Given the description of an element on the screen output the (x, y) to click on. 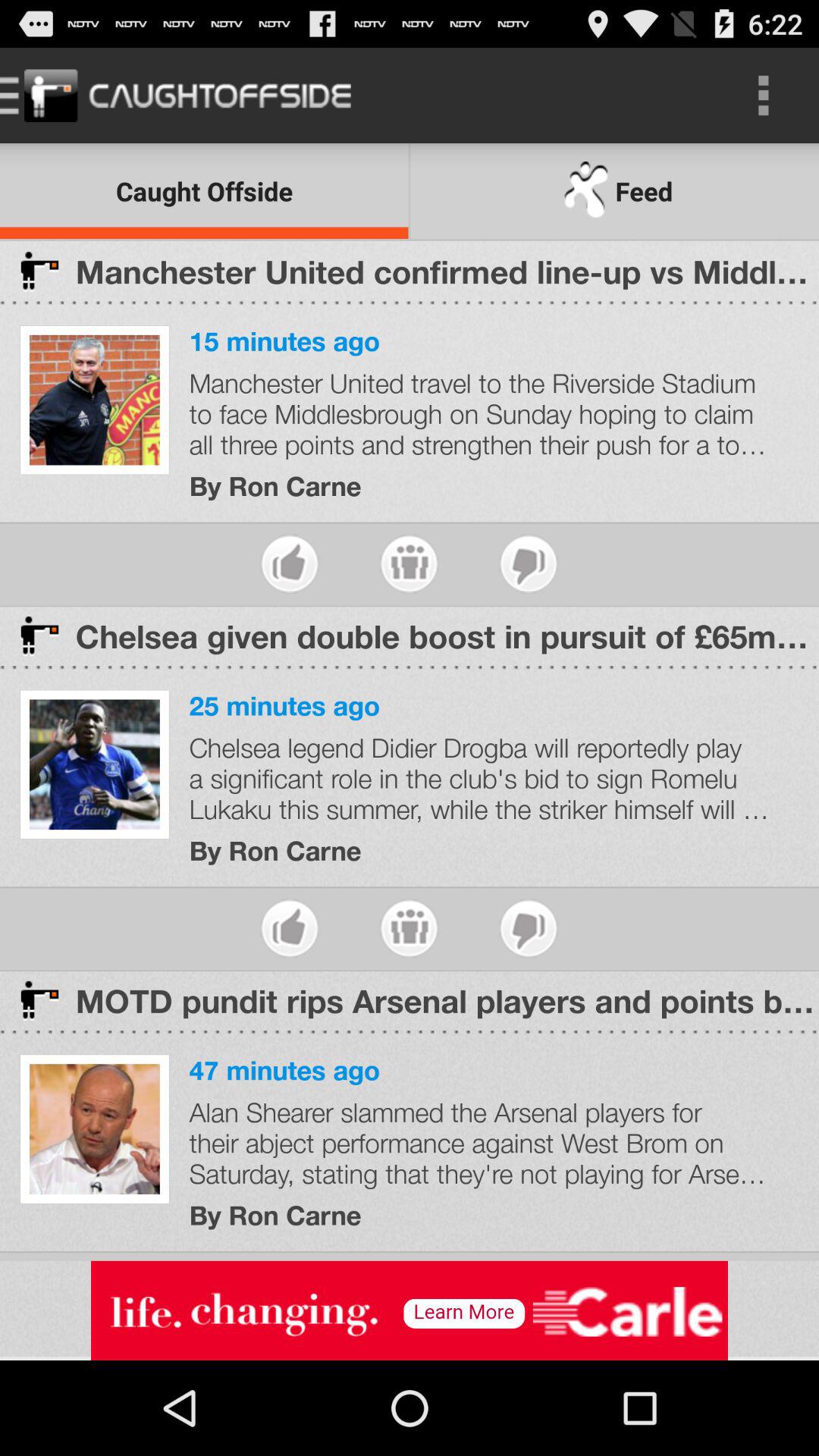
give thumbs up (289, 563)
